Given the description of an element on the screen output the (x, y) to click on. 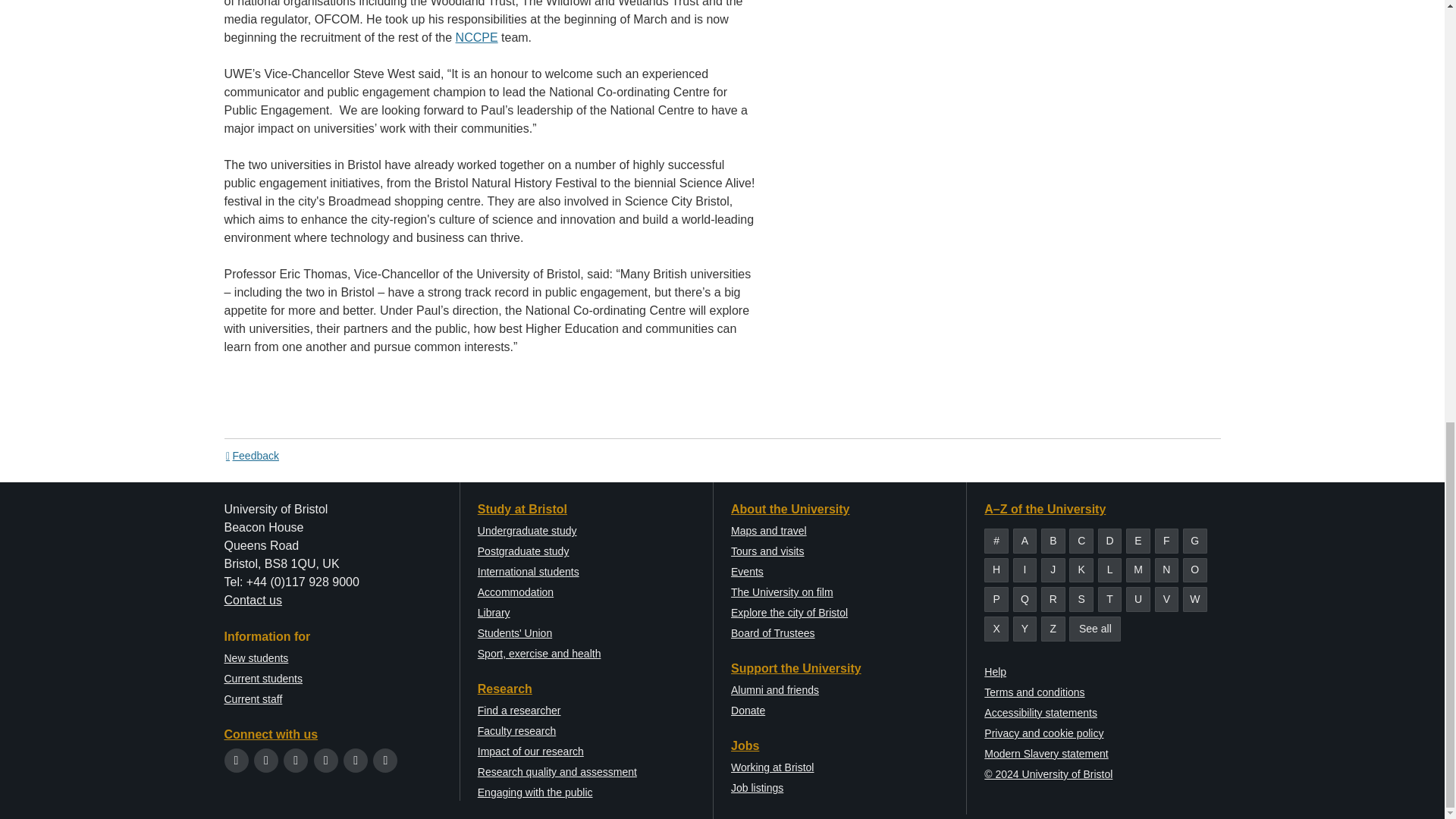
Contact us (253, 599)
Twitter (236, 760)
Current students (263, 678)
Flickr (384, 760)
Instagram (295, 760)
LinkedIn (355, 760)
New students (256, 657)
Facebook (265, 760)
Feedback (252, 455)
NCCPE (476, 37)
YouTube (325, 760)
